Given the description of an element on the screen output the (x, y) to click on. 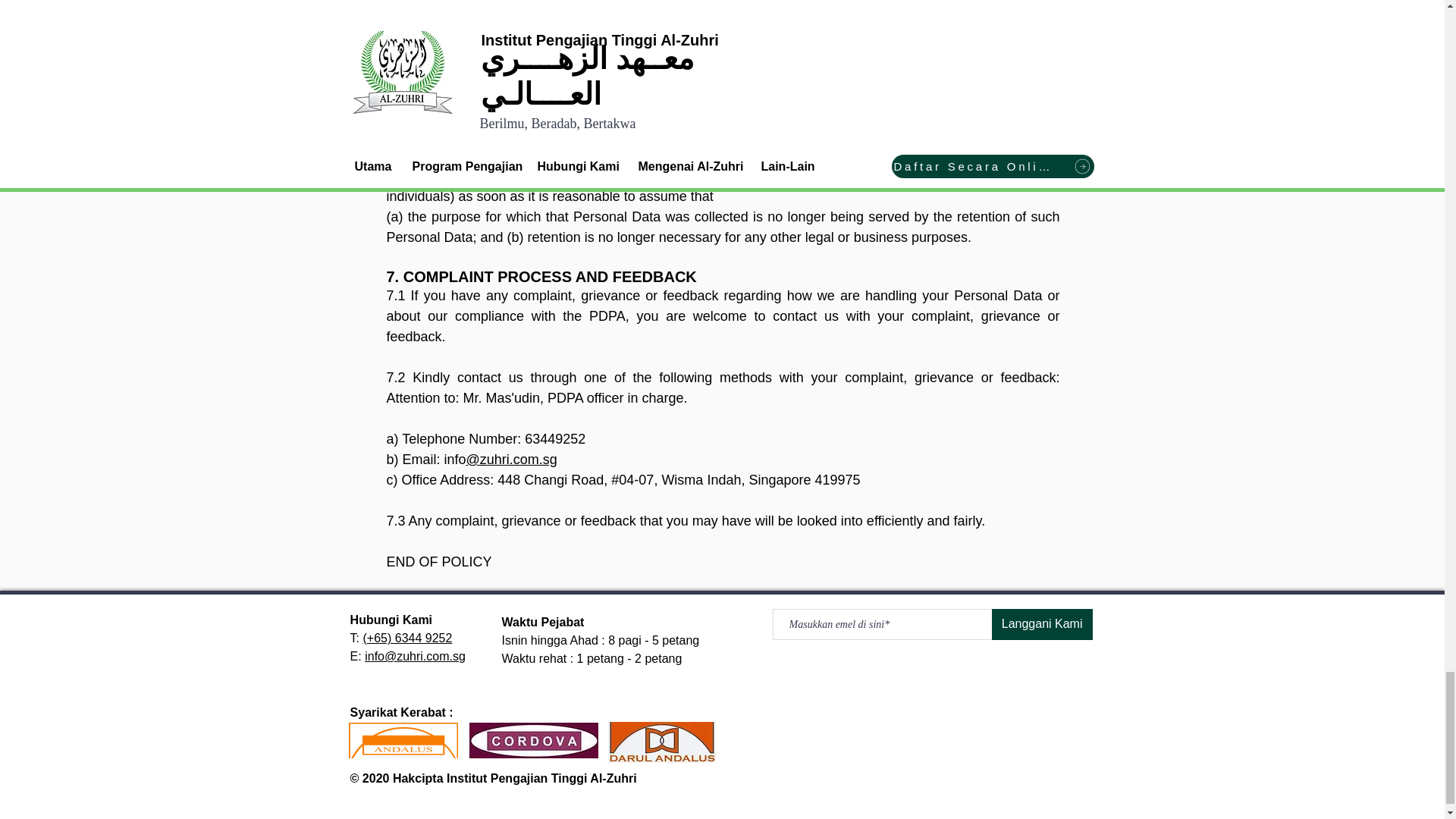
Waktu Pejabat  (545, 621)
Langgani Kami (1042, 624)
Hubungi Kami (391, 619)
